Given the description of an element on the screen output the (x, y) to click on. 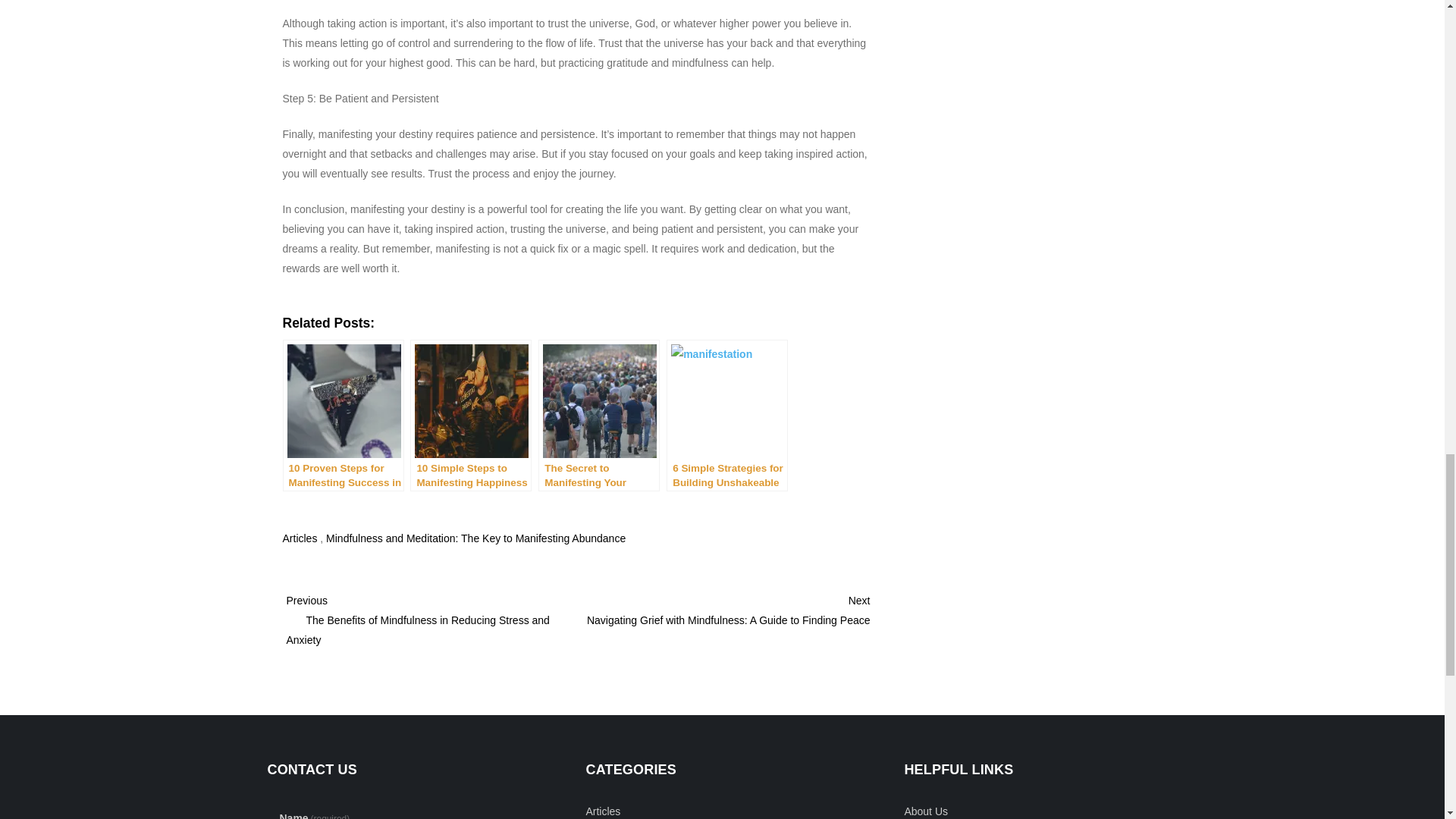
Articles (299, 538)
Articles (602, 810)
About Us (925, 810)
Mindfulness and Meditation: The Key to Manifesting Abundance (476, 538)
